Given the description of an element on the screen output the (x, y) to click on. 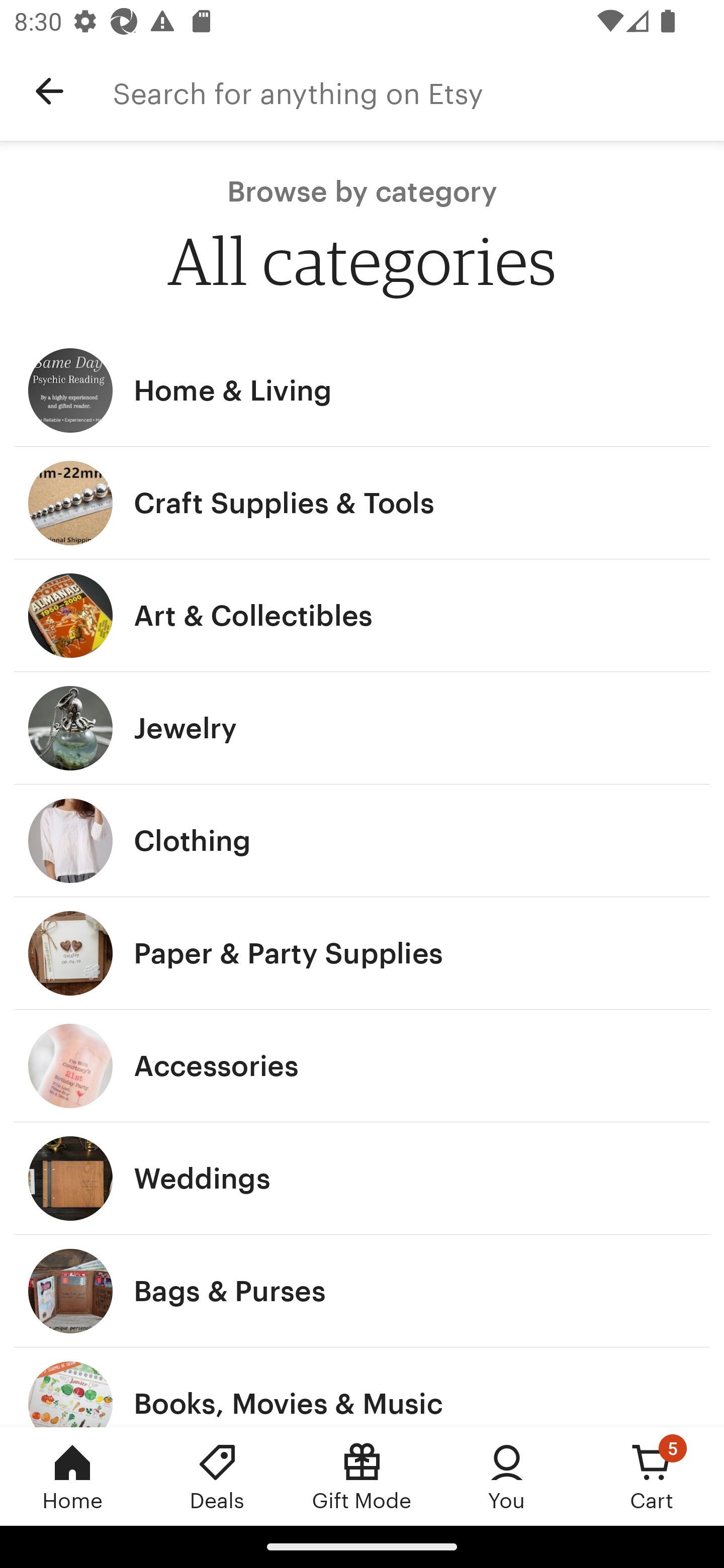
Navigate up (49, 91)
Search for anything on Etsy (418, 91)
Home & Living (361, 389)
Craft Supplies & Tools (361, 502)
Art & Collectibles (361, 615)
Jewelry (361, 728)
Clothing (361, 840)
Paper & Party Supplies (361, 952)
Accessories (361, 1065)
Weddings (361, 1178)
Bags & Purses (361, 1290)
Books, Movies & Music (361, 1386)
Deals (216, 1475)
Gift Mode (361, 1475)
You (506, 1475)
Cart, 5 new notifications Cart (651, 1475)
